Given the description of an element on the screen output the (x, y) to click on. 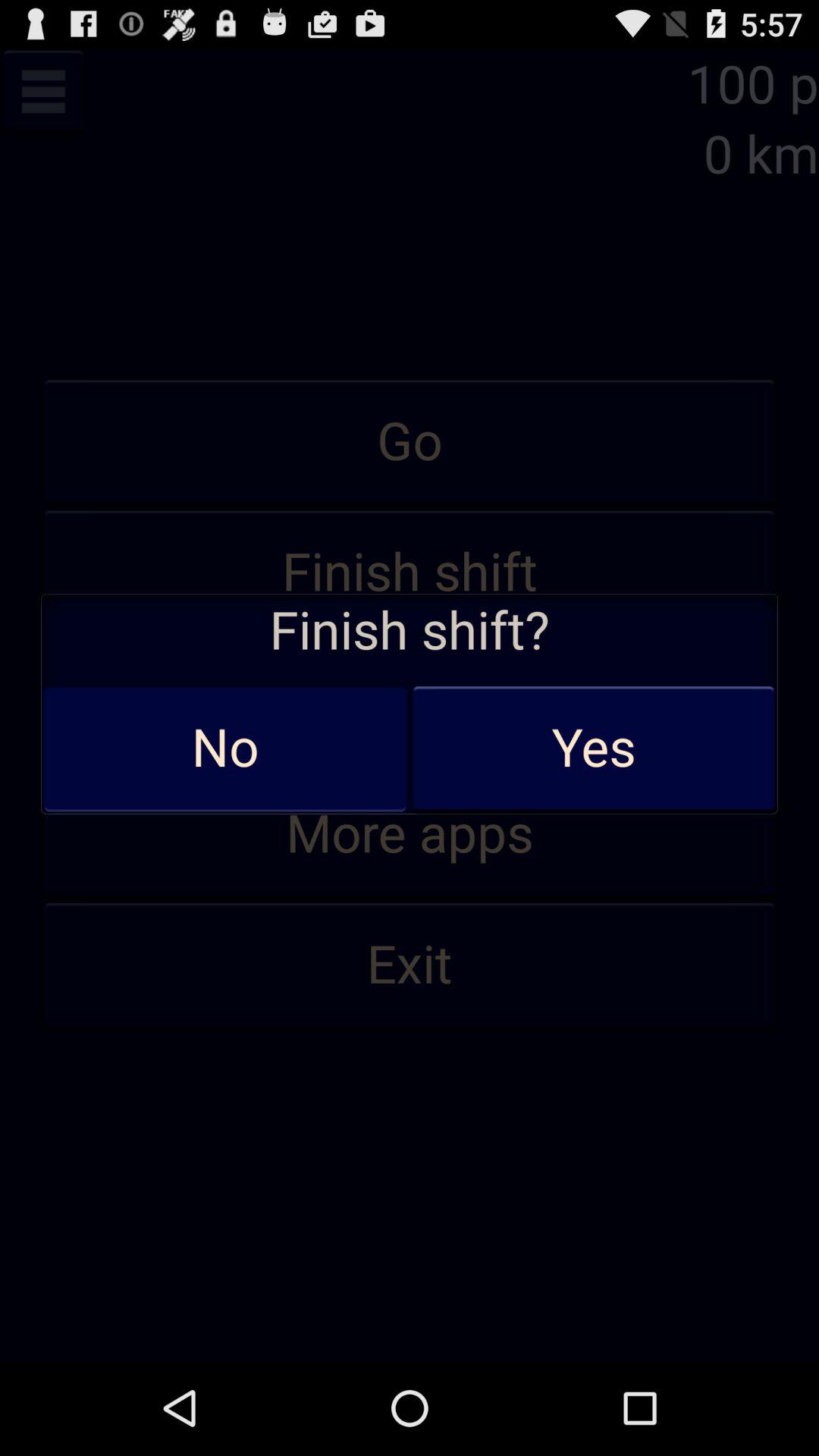
open icon above finish shift (409, 442)
